Given the description of an element on the screen output the (x, y) to click on. 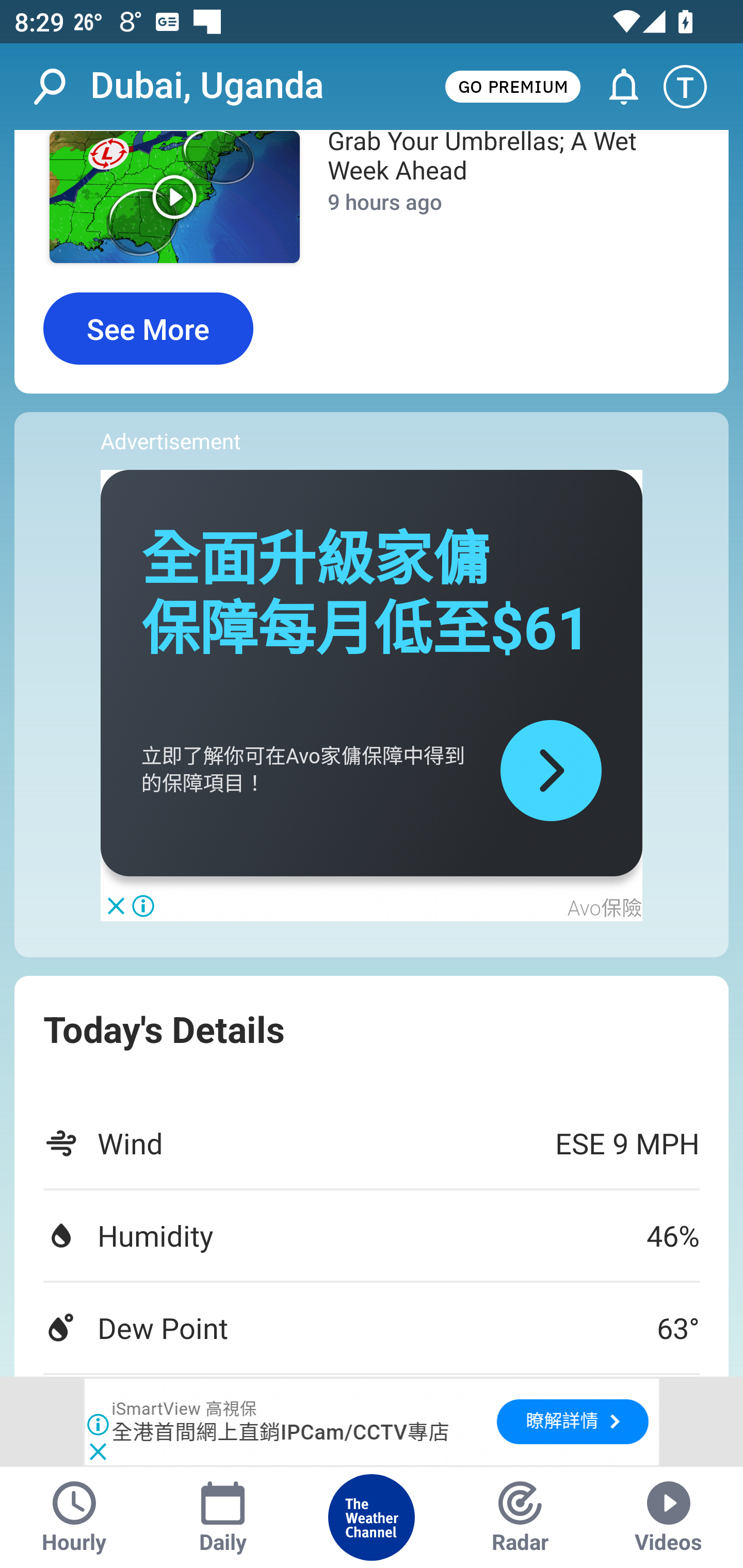
Search (59, 86)
Go to Alerts and Notifications (614, 86)
Setting icon T (694, 86)
Dubai, Uganda (206, 85)
GO PREMIUM (512, 85)
Grab Your Umbrellas; A Wet Week Ahead 9 hours ago (502, 200)
Play (174, 197)
See More (148, 329)
全面升級家傭 保障每月低至$61 全面升級家傭 保障每月低至$61 (366, 593)
helper (550, 770)
立即了解你可在Avo家傭保障中得到 的保障項目！ 立即了解你可在Avo家傭保障中得到 的保障項目！ (303, 770)
Avo保險 (604, 908)
iSmartView 高視保 (184, 1409)
瞭解詳情 (572, 1421)
全港首間網上直銷IPCam/CCTV專店 (281, 1432)
Hourly Tab Hourly (74, 1517)
Daily Tab Daily (222, 1517)
Radar Tab Radar (519, 1517)
Videos Tab Videos (668, 1517)
